Given the description of an element on the screen output the (x, y) to click on. 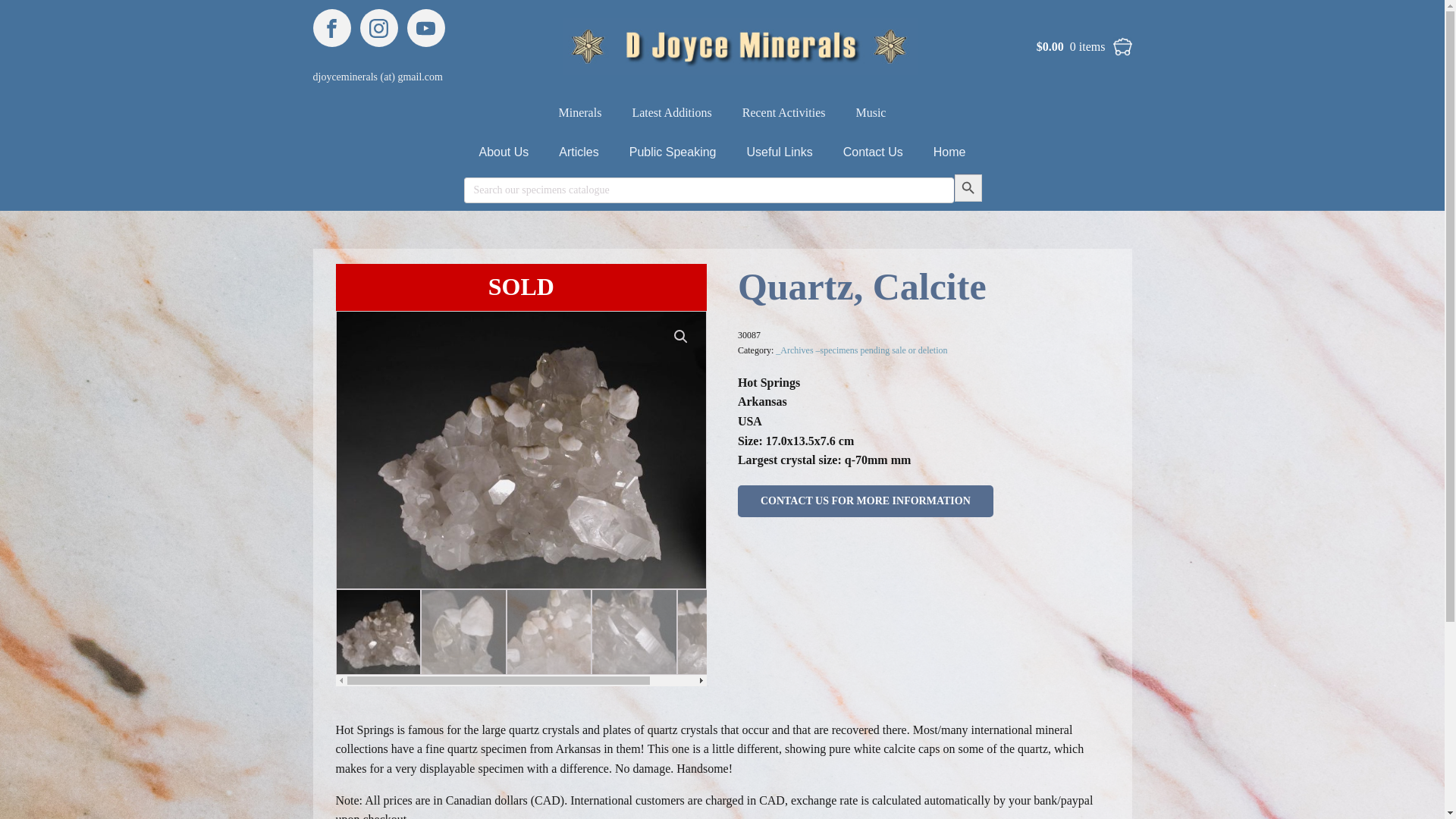
Music (870, 112)
Useful Links (780, 152)
Minerals (580, 112)
Home (949, 152)
Latest Additions (670, 112)
SEARCH BUTTON (967, 186)
Articles (577, 152)
Contact Us (873, 152)
CONTACT US FOR MORE INFORMATION (865, 500)
Recent Activities (783, 112)
About Us (504, 152)
Public Speaking (673, 152)
30087b (890, 450)
30087 (521, 450)
